Given the description of an element on the screen output the (x, y) to click on. 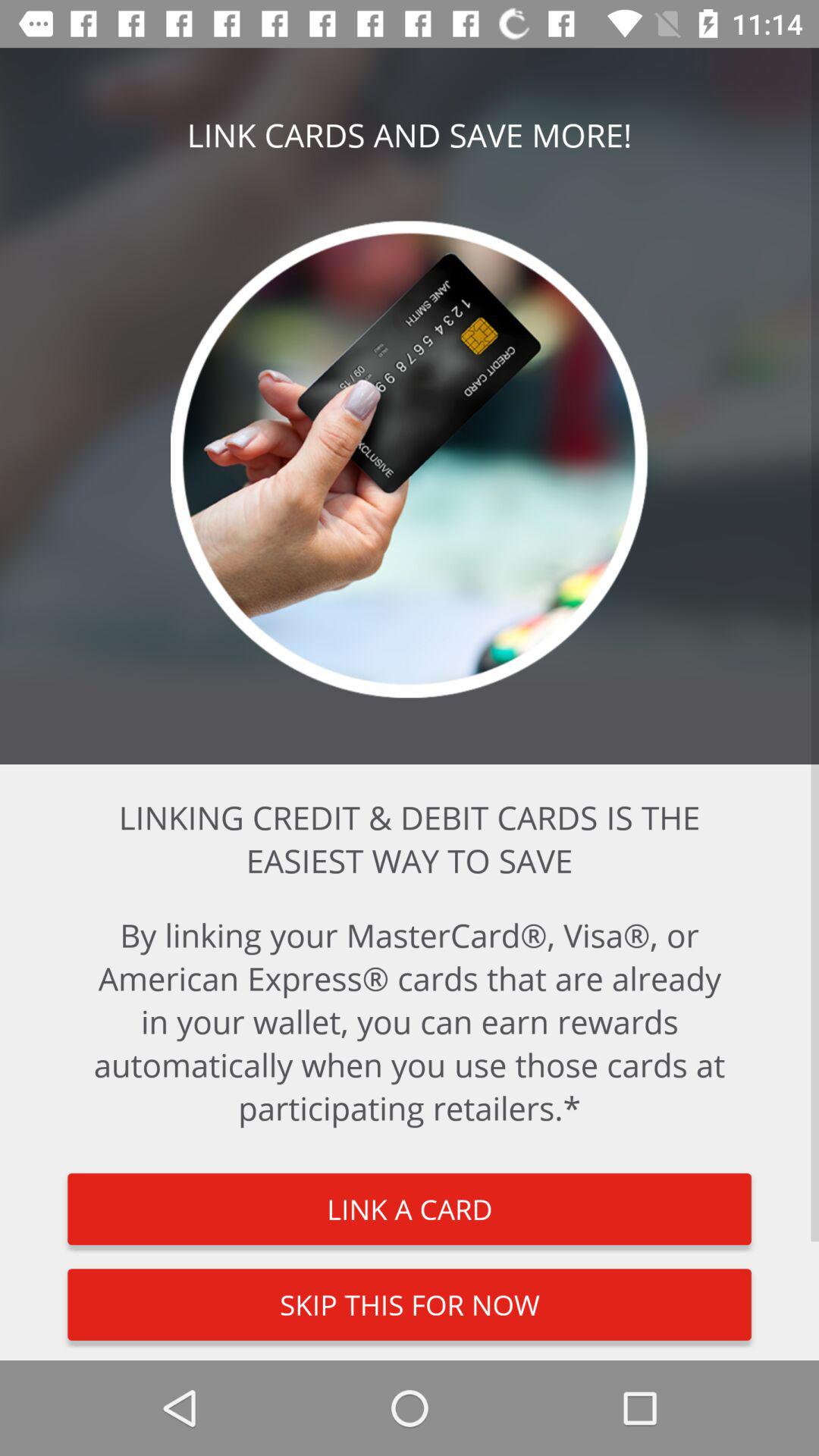
jump until skip this for item (409, 1304)
